Given the description of an element on the screen output the (x, y) to click on. 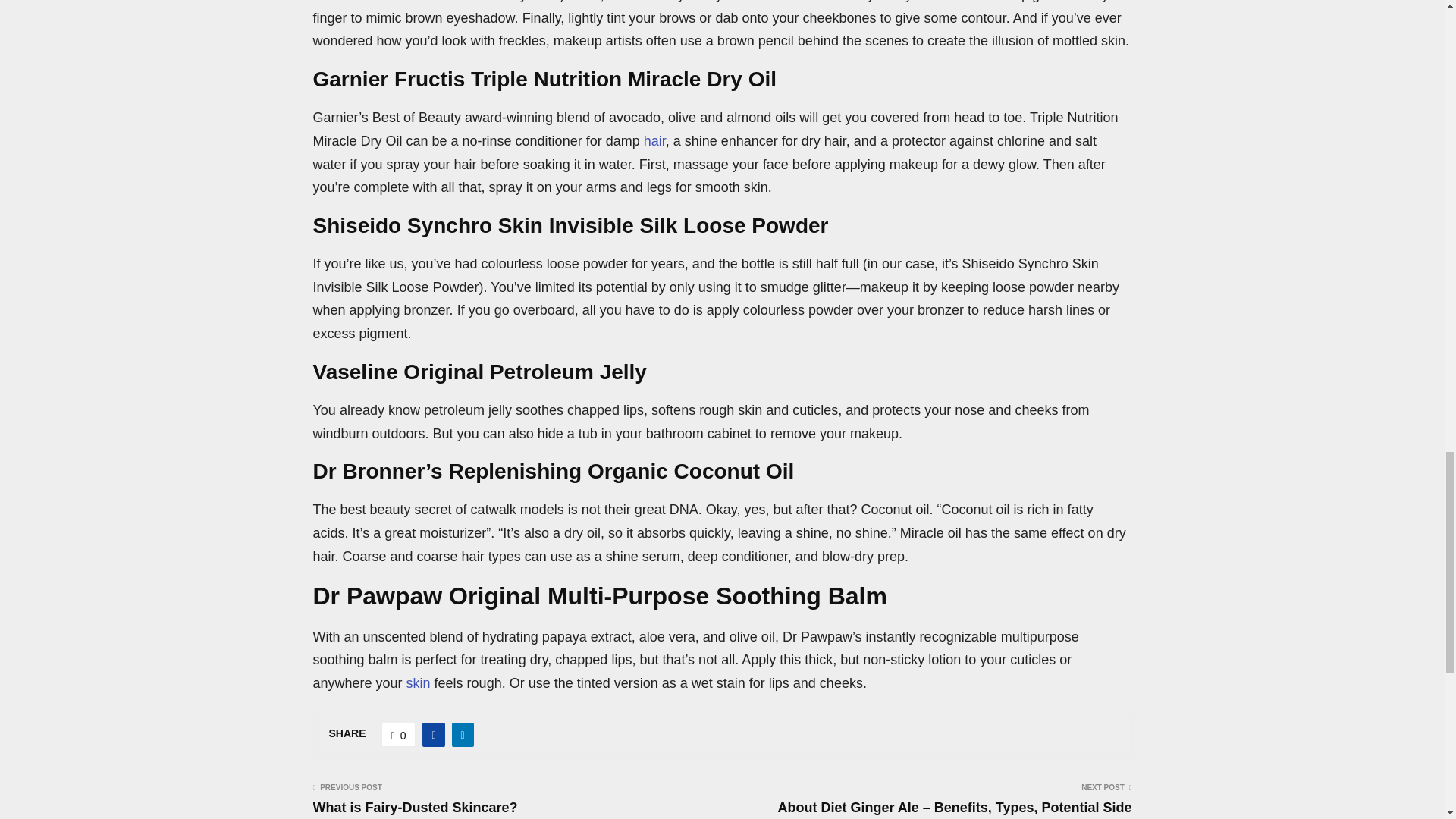
hair (654, 140)
0 (398, 734)
skin (418, 683)
Like (398, 734)
